Given the description of an element on the screen output the (x, y) to click on. 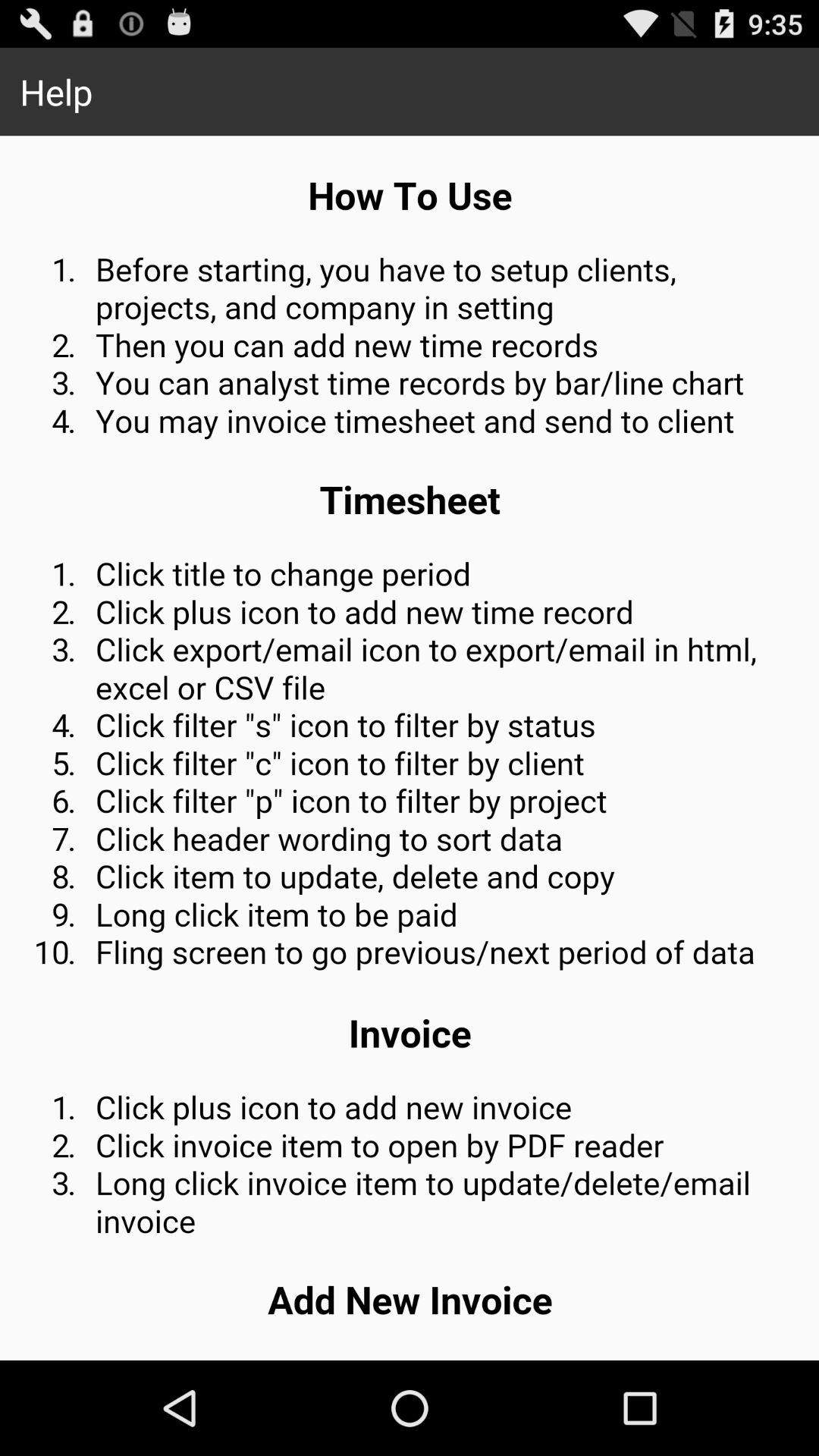
full page (409, 747)
